Given the description of an element on the screen output the (x, y) to click on. 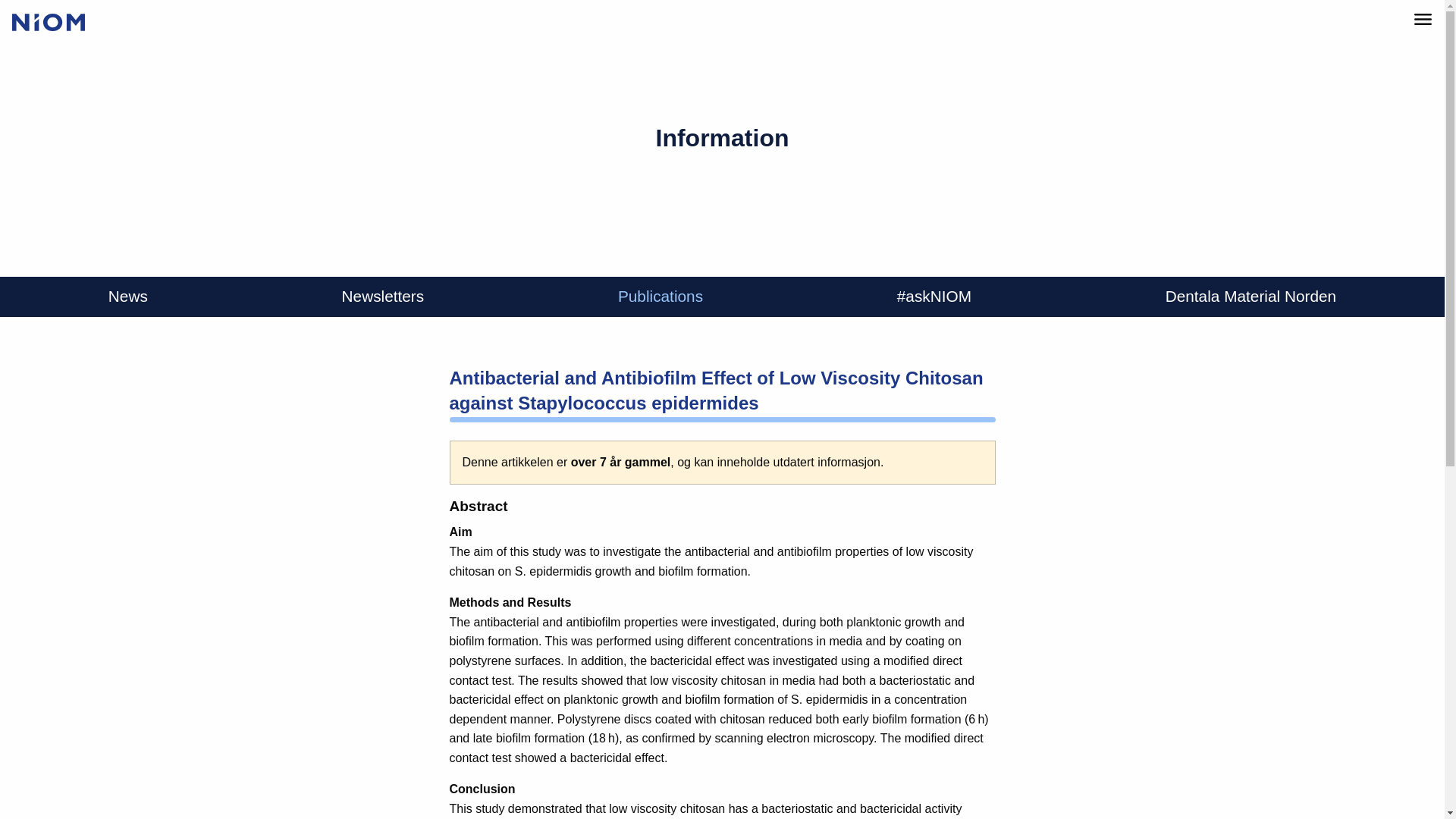
Newsletters (383, 296)
Dentala Material Norden (1250, 296)
News (128, 296)
Publications (659, 296)
